Given the description of an element on the screen output the (x, y) to click on. 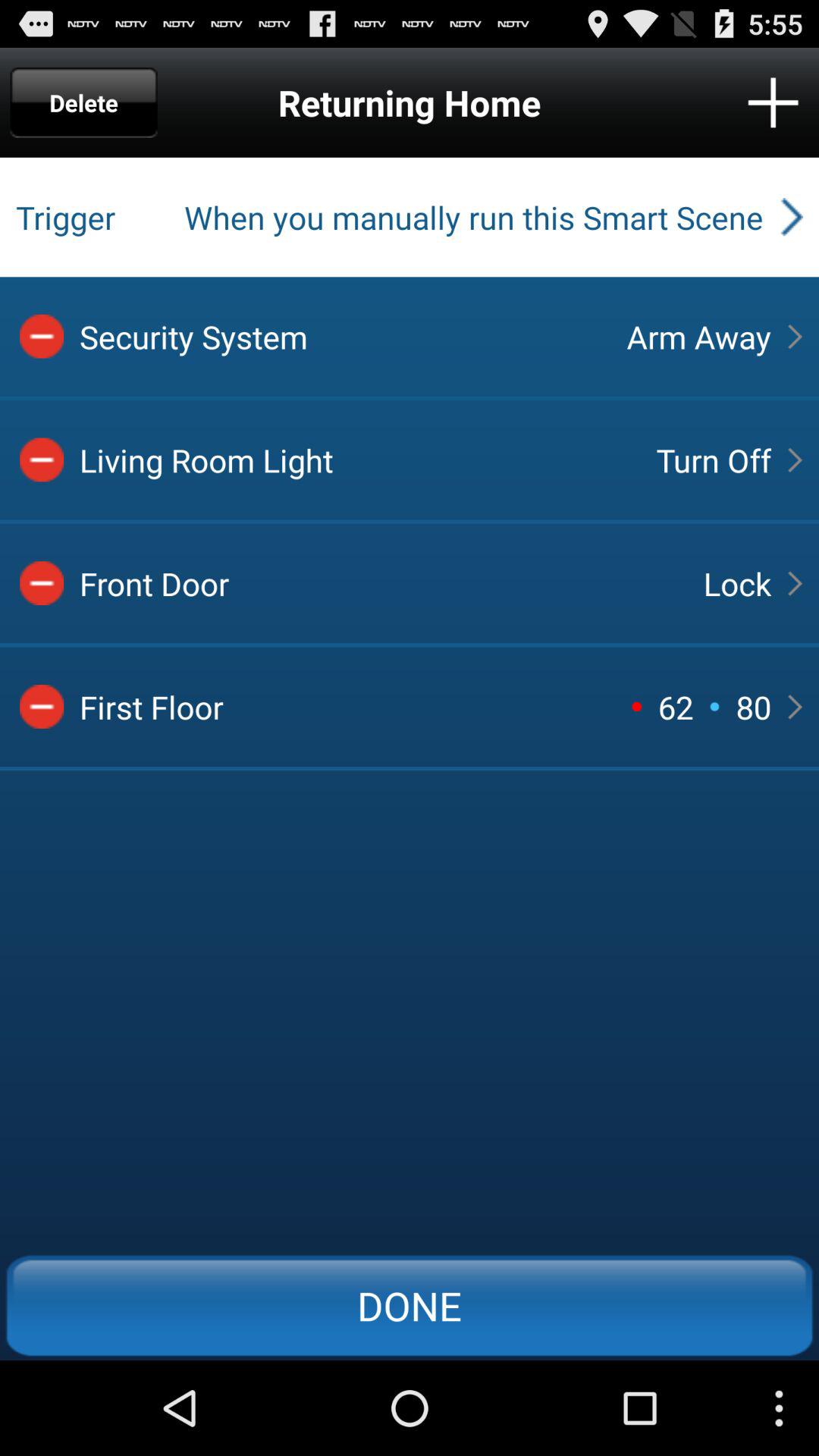
press turn off app (713, 459)
